Given the description of an element on the screen output the (x, y) to click on. 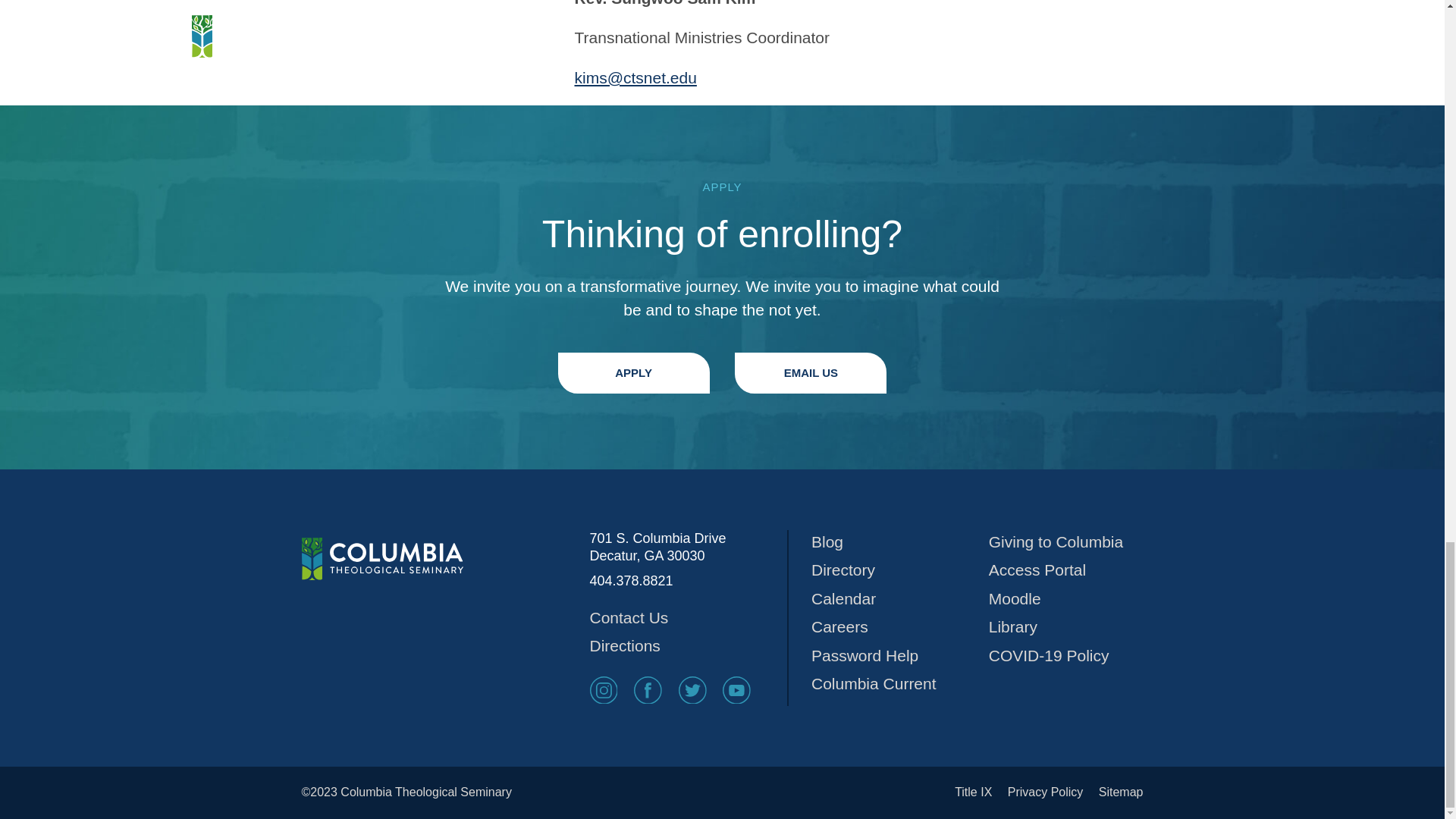
Directions (688, 645)
Contact Us (688, 617)
EMAIL US (810, 372)
APPLY (633, 372)
